Given the description of an element on the screen output the (x, y) to click on. 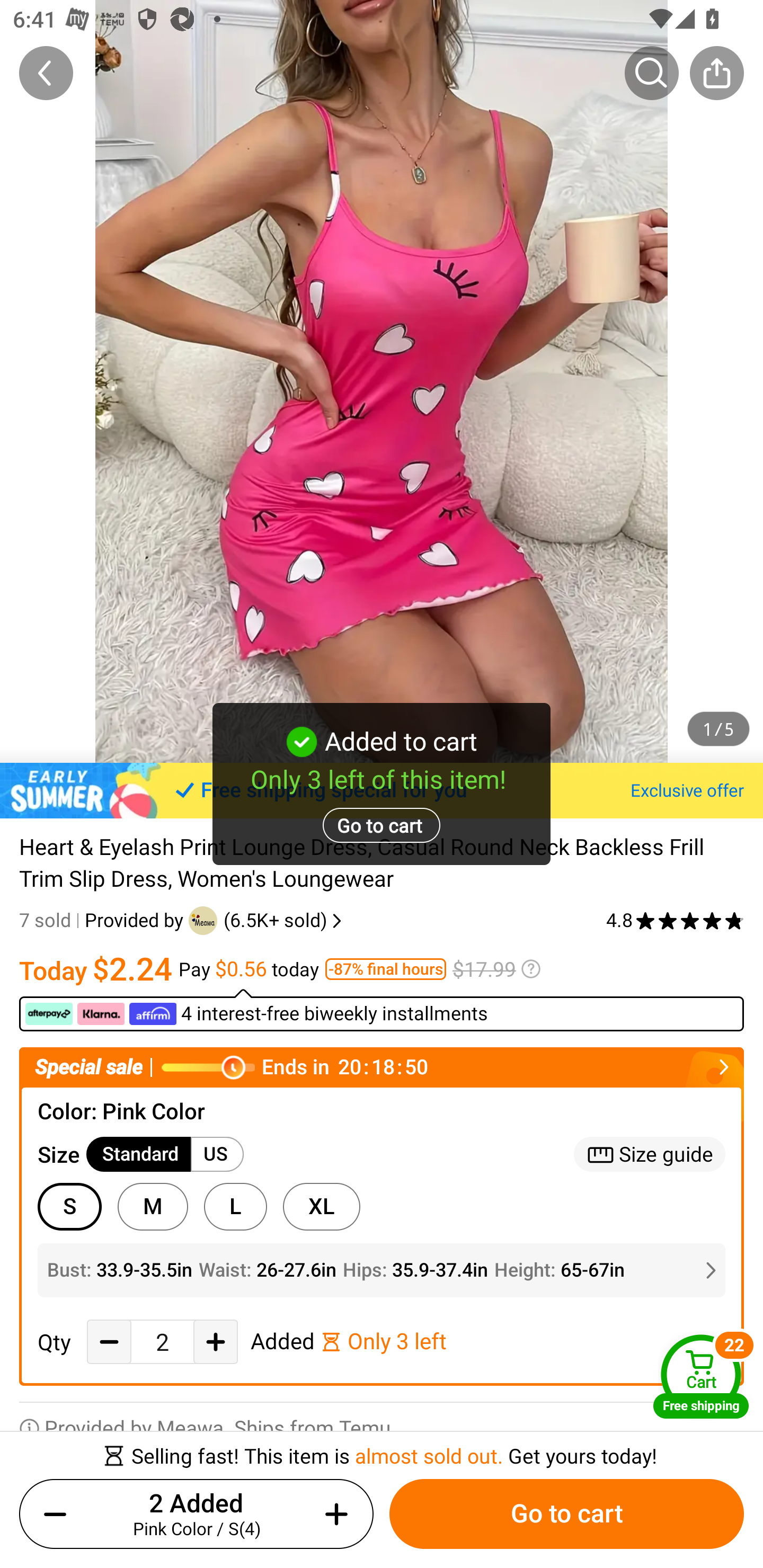
Back (46, 72)
Share (716, 72)
7 sold Provided by  (103, 920)
4.8 (674, 920)
￼ ￼ ￼ 4 interest-free biweekly installments (381, 1009)
Special sale Ends in￼￼ (381, 1067)
Standard (138, 1153)
US (216, 1153)
 Size guide (649, 1153)
S (69, 1206)
M (152, 1206)
L (235, 1206)
XL (321, 1206)
Decrease Quantity Button (108, 1342)
Add Quantity button (215, 1342)
2 (162, 1342)
Cart Free shipping Cart (701, 1375)
Decrease Quantity Button (59, 1513)
Add Quantity button (332, 1513)
Go to cart (566, 1513)
